Given the description of an element on the screen output the (x, y) to click on. 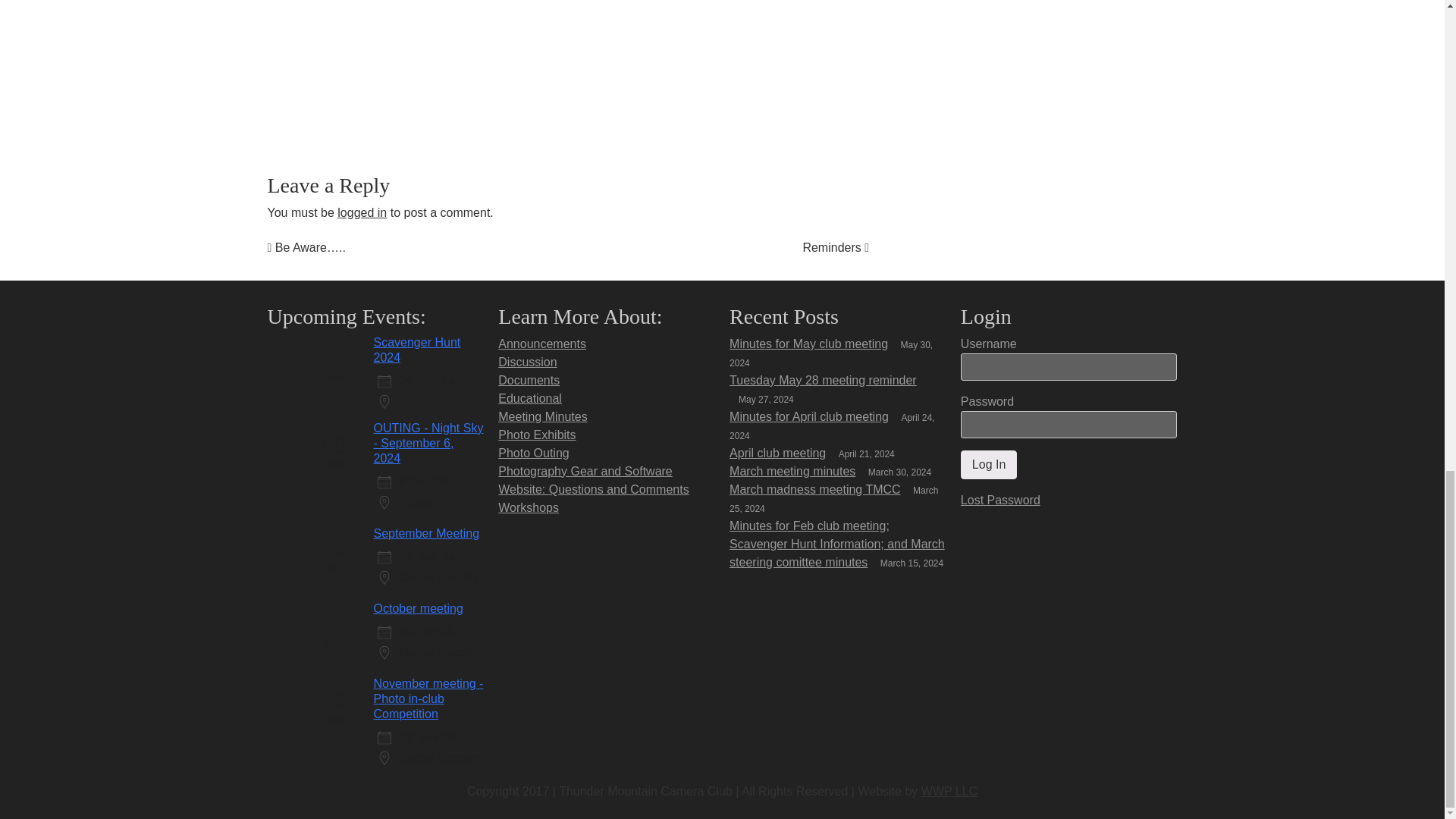
Log In (988, 464)
OUTING - Night Sky - September 6, 2024 (427, 443)
Meeting Minutes (541, 416)
Documents (528, 379)
October meeting (417, 608)
Tuesday May 28 meeting reminder (823, 379)
Photo Exhibits (536, 434)
November meeting - Photo in-club Competition (427, 698)
Scavenger Hunt 2024 (416, 349)
